Given the description of an element on the screen output the (x, y) to click on. 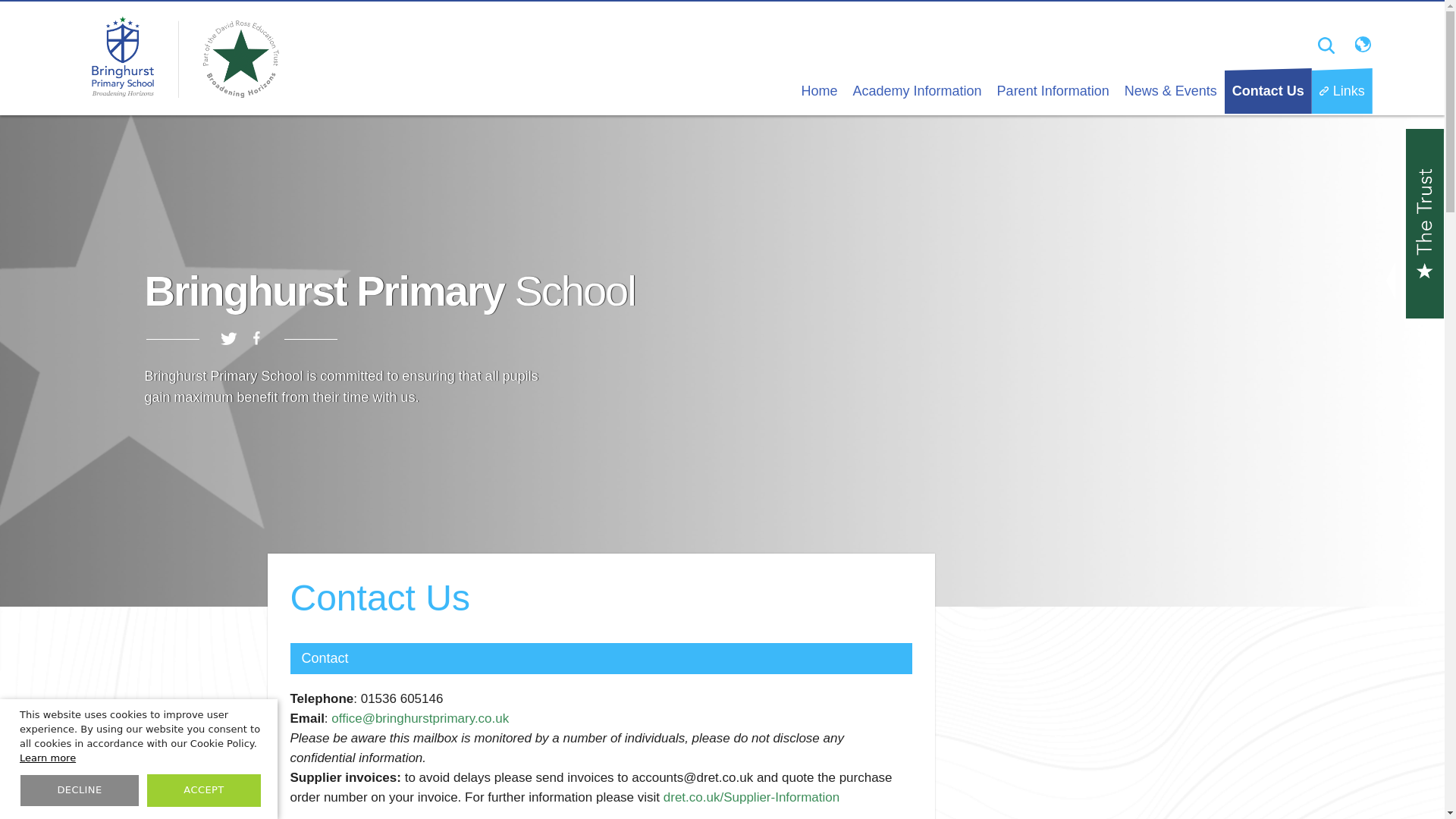
Links (1342, 90)
Search site (1326, 45)
Contact Us (1267, 90)
Search site (1326, 45)
Home (819, 90)
Parent Information (1053, 90)
Academy Information (917, 90)
